Given the description of an element on the screen output the (x, y) to click on. 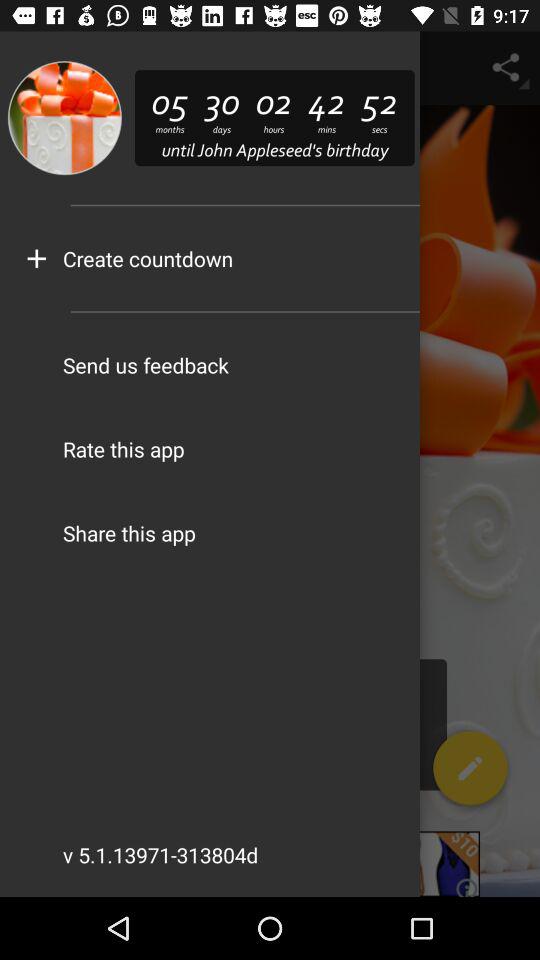
select the edit icon (469, 771)
click the text beside the image (275, 118)
